Given the description of an element on the screen output the (x, y) to click on. 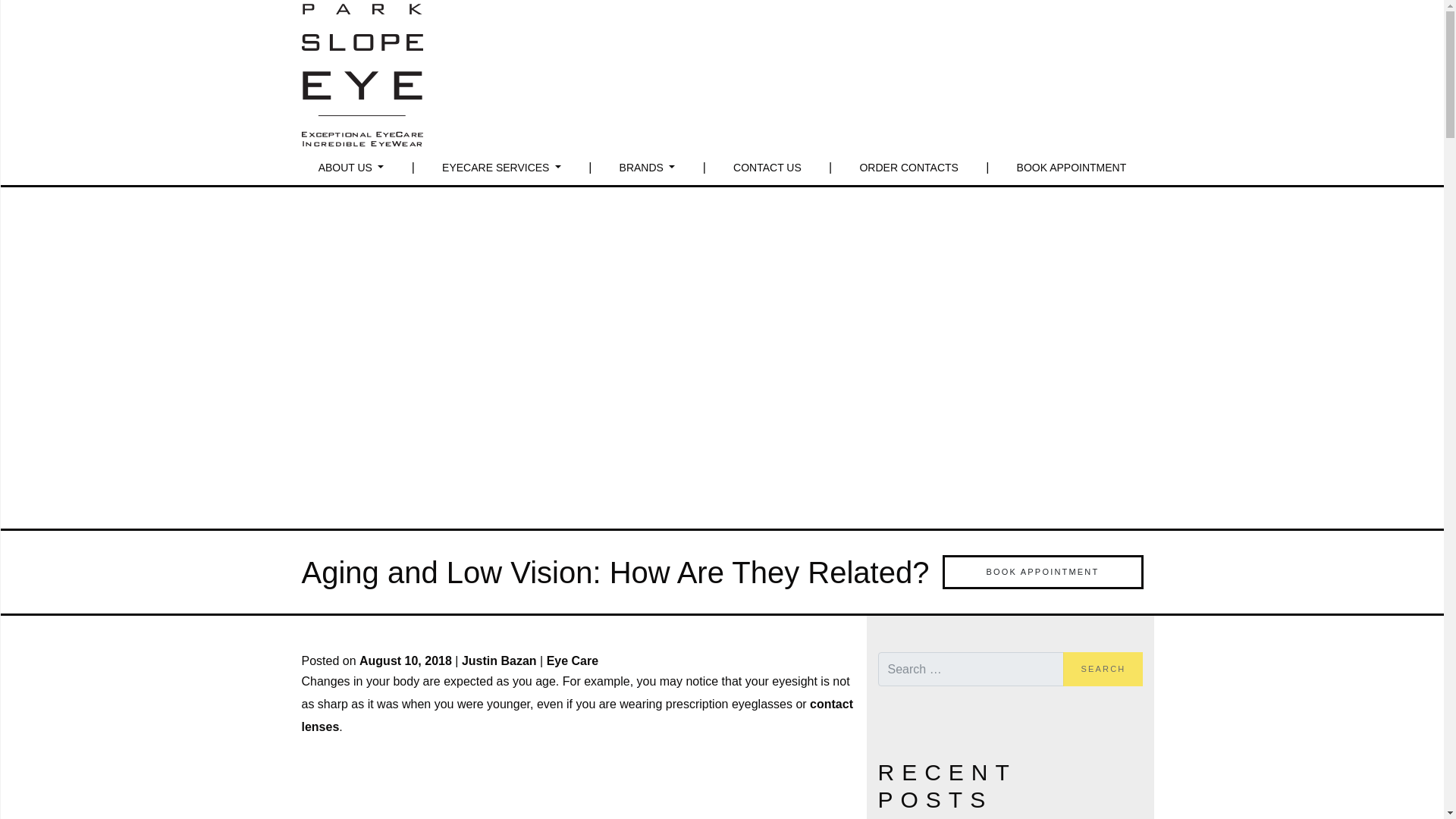
Eyecare Services (501, 167)
BOOK APPOINTMENT (1042, 571)
contact lenses (577, 715)
CONTACT US (767, 167)
BOOK APPOINTMENT (1071, 167)
Search (1102, 668)
EYECARE SERVICES (501, 167)
BRANDS (646, 167)
ABOUT US (351, 167)
About Us (351, 167)
ORDER CONTACTS (908, 167)
Eye Care (572, 660)
Justin Bazan (499, 660)
August 10, 2018 (406, 660)
